Given the description of an element on the screen output the (x, y) to click on. 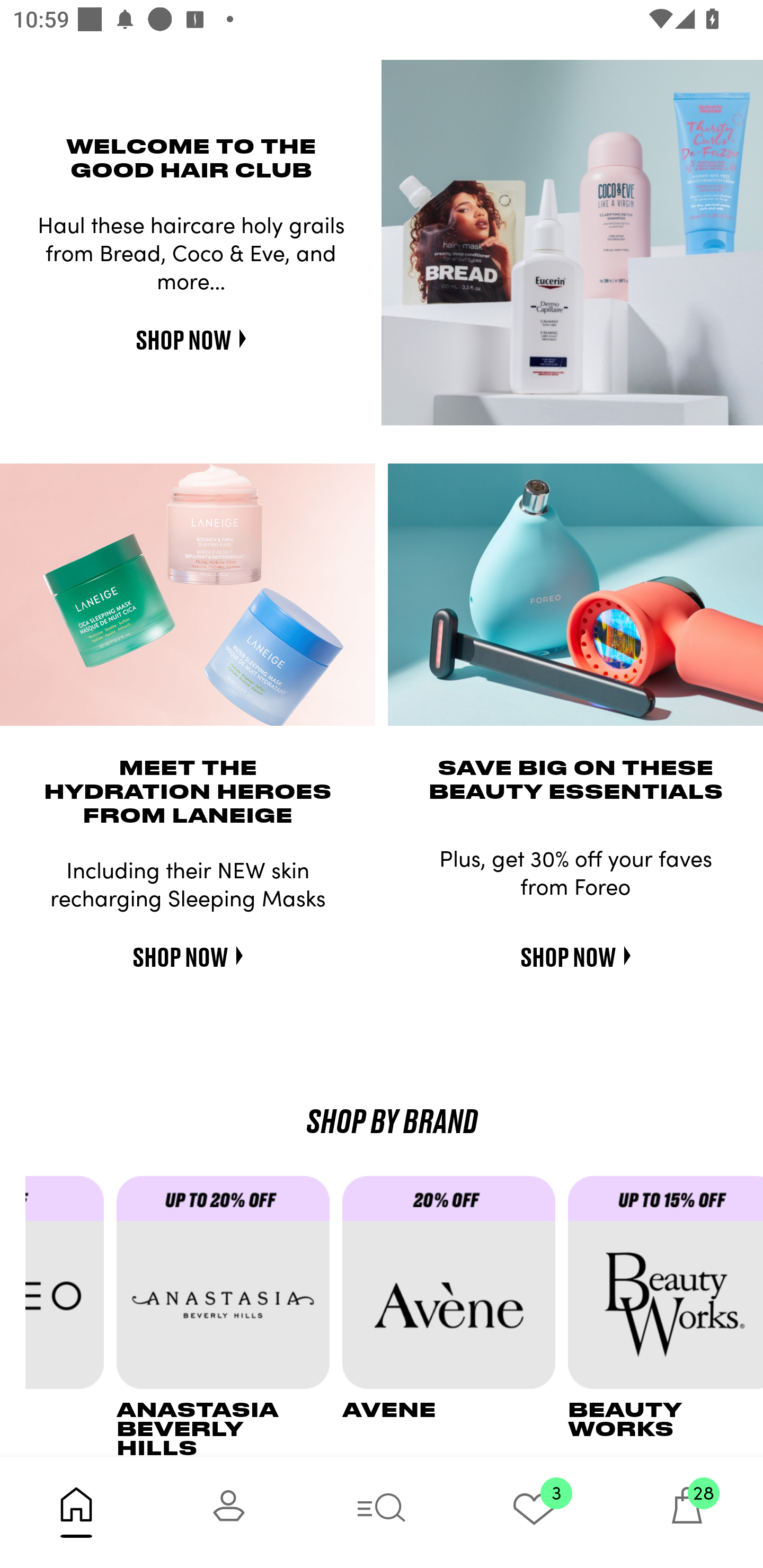
ANASTASIA BEVERLY HILLS (229, 1316)
AVÈNE (454, 1316)
BEAUTY WORKS (665, 1316)
3 (533, 1512)
28 (686, 1512)
